Given the description of an element on the screen output the (x, y) to click on. 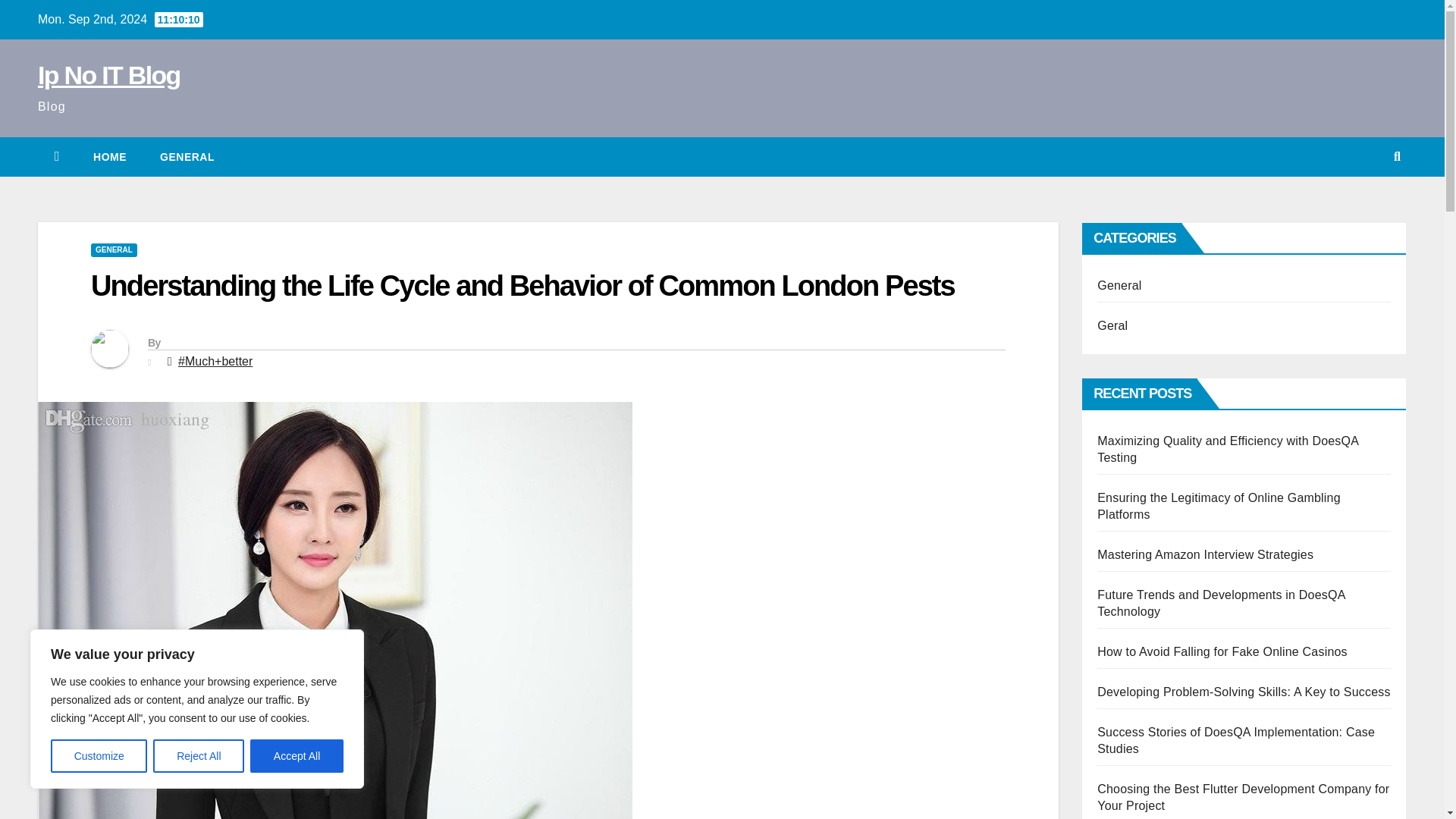
Reject All (198, 756)
GENERAL (113, 250)
Customize (98, 756)
Home (109, 156)
Accept All (296, 756)
General (186, 156)
HOME (109, 156)
GENERAL (186, 156)
